Given the description of an element on the screen output the (x, y) to click on. 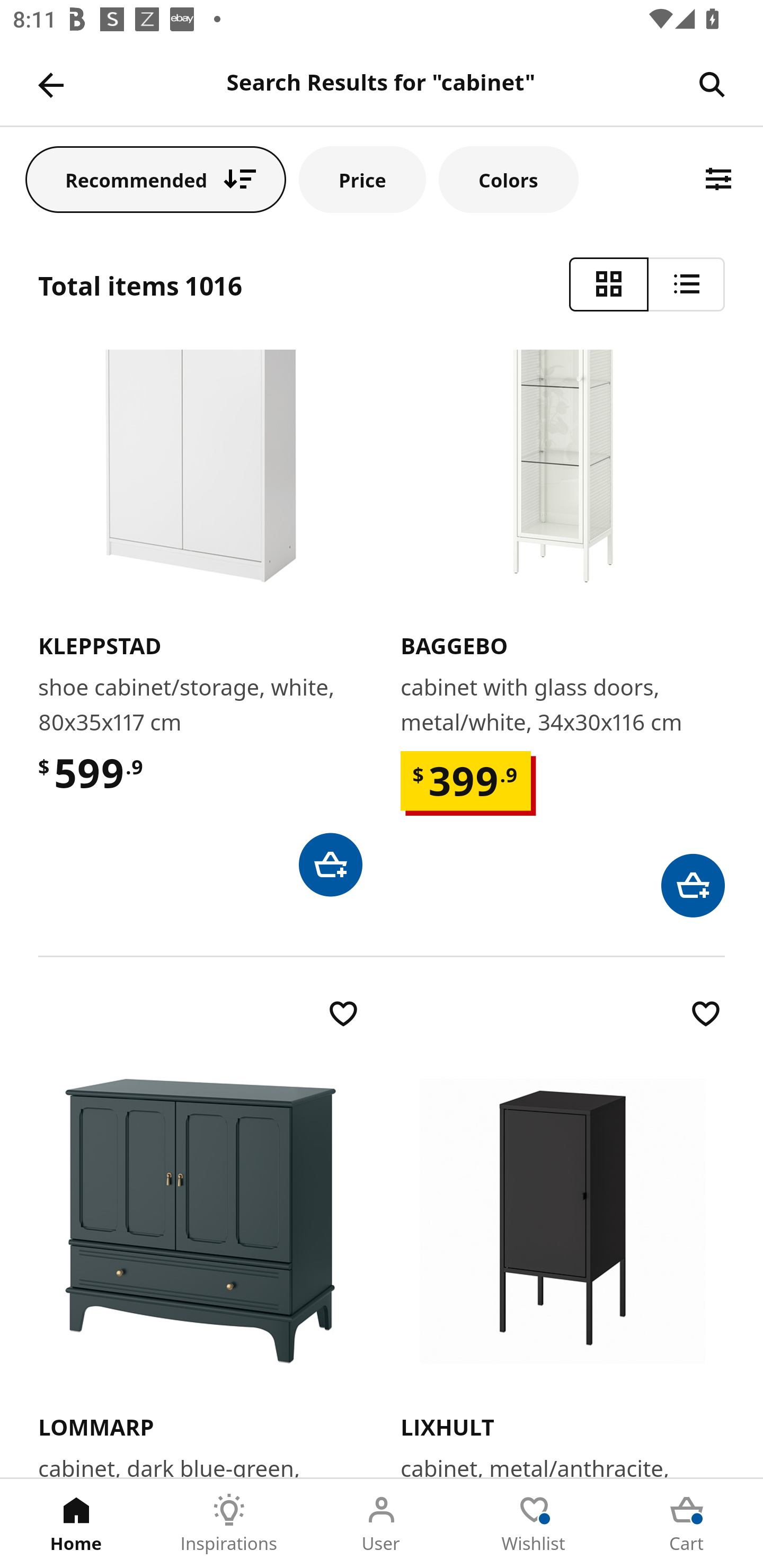
Recommended (155, 179)
Price (362, 179)
Colors (508, 179)
Home
Tab 1 of 5 (76, 1522)
Inspirations
Tab 2 of 5 (228, 1522)
User
Tab 3 of 5 (381, 1522)
Wishlist
Tab 4 of 5 (533, 1522)
Cart
Tab 5 of 5 (686, 1522)
